Given the description of an element on the screen output the (x, y) to click on. 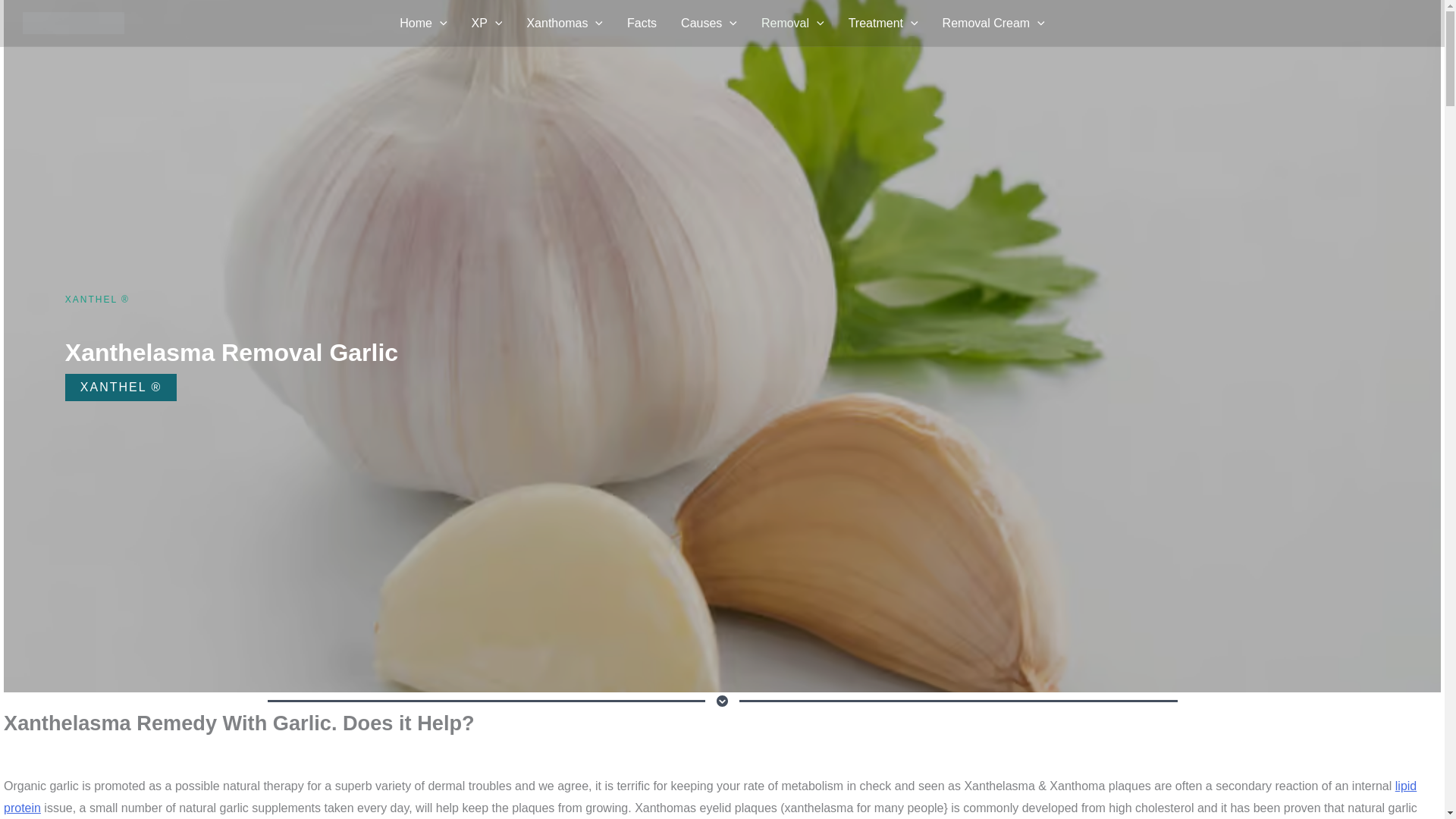
Removal (792, 23)
Facts (641, 23)
XP (487, 23)
Xanthomas (563, 23)
Causes (708, 23)
Home (422, 23)
